Given the description of an element on the screen output the (x, y) to click on. 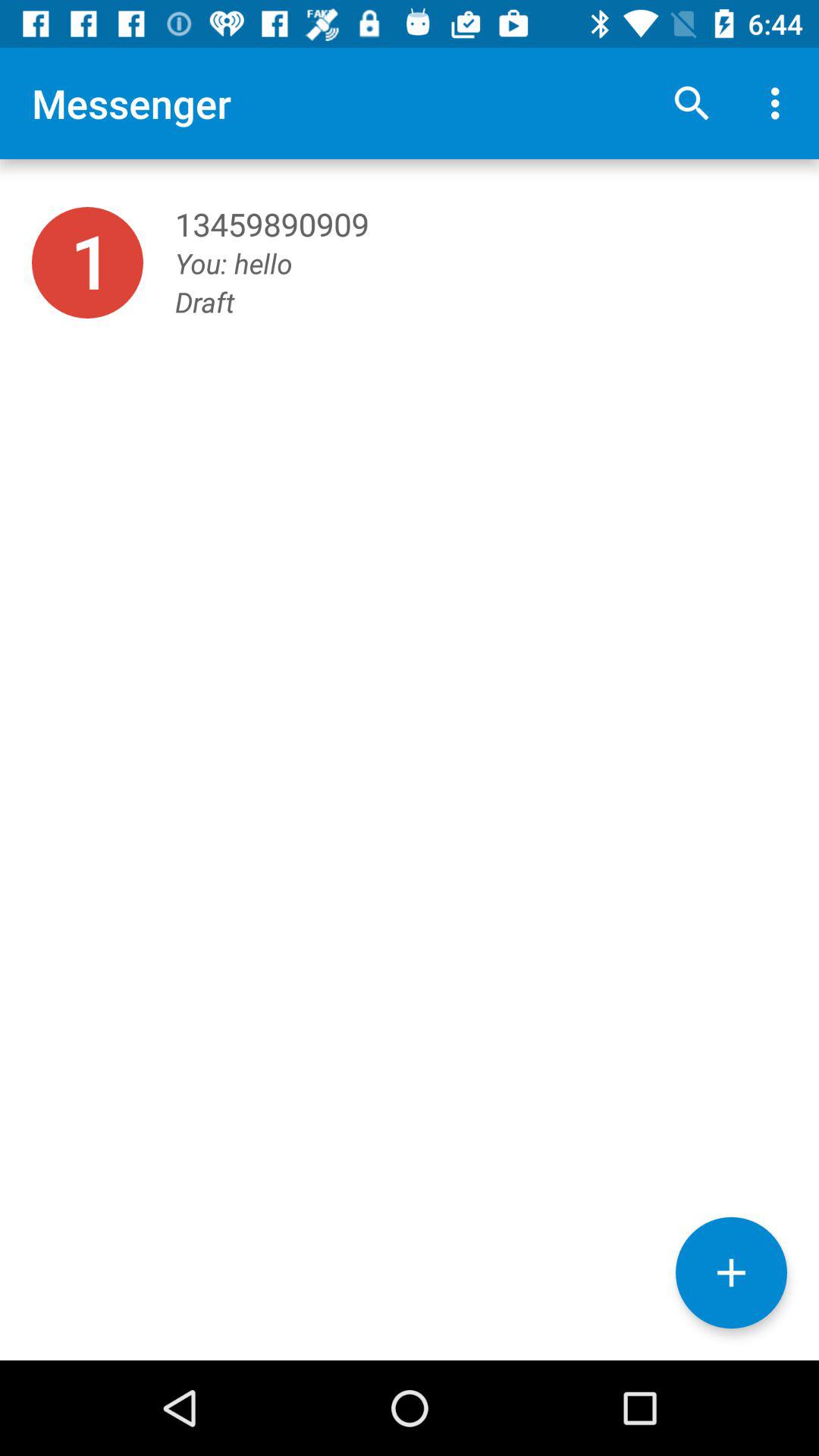
press the icon to the left of the 13459890909 (87, 262)
